Given the description of an element on the screen output the (x, y) to click on. 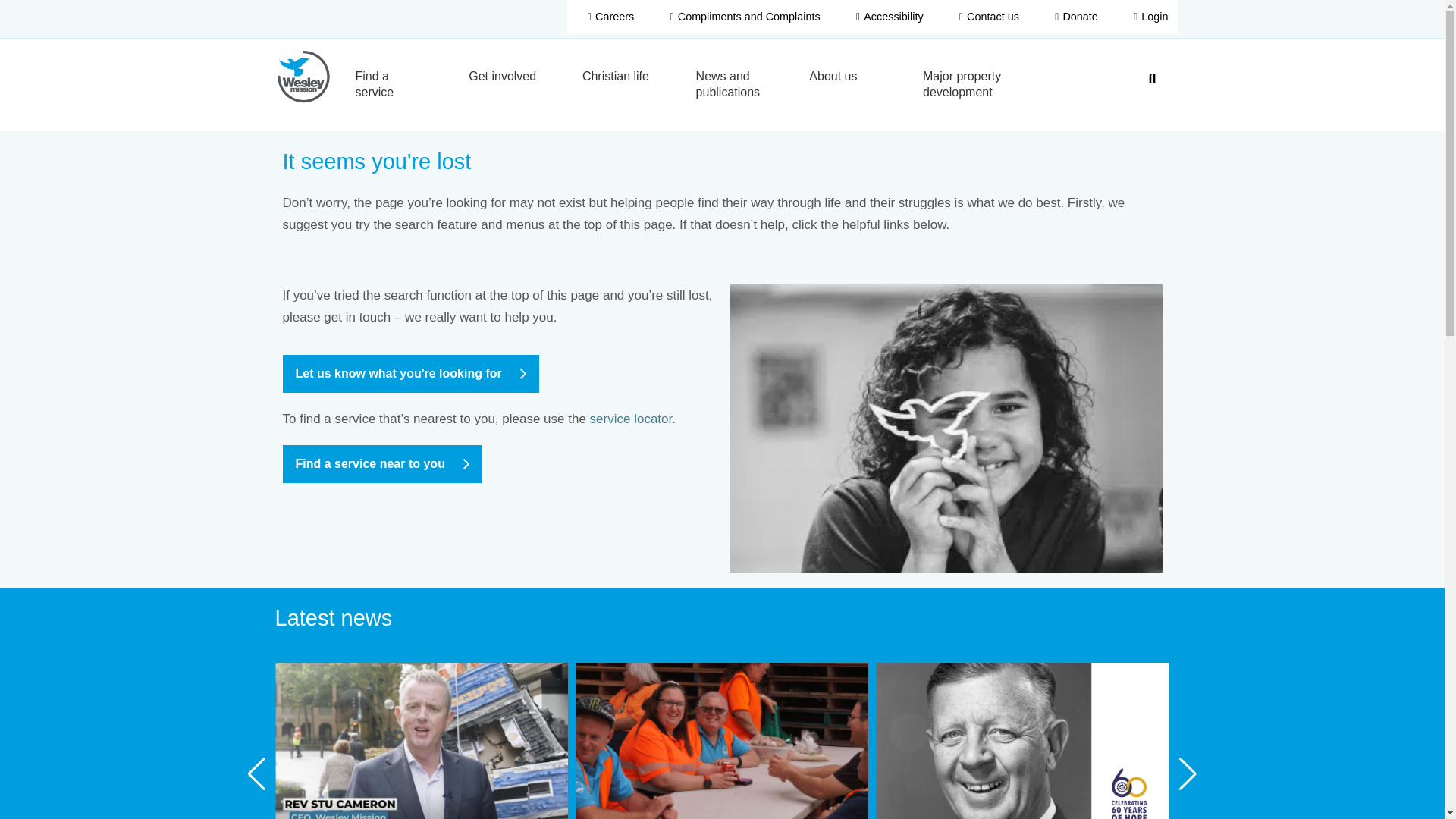
Compliments and Complaints (741, 18)
Accessibility (887, 18)
Login (1148, 18)
Find a service (395, 84)
Contact us (986, 18)
Careers (608, 18)
Donate (1073, 18)
